Given the description of an element on the screen output the (x, y) to click on. 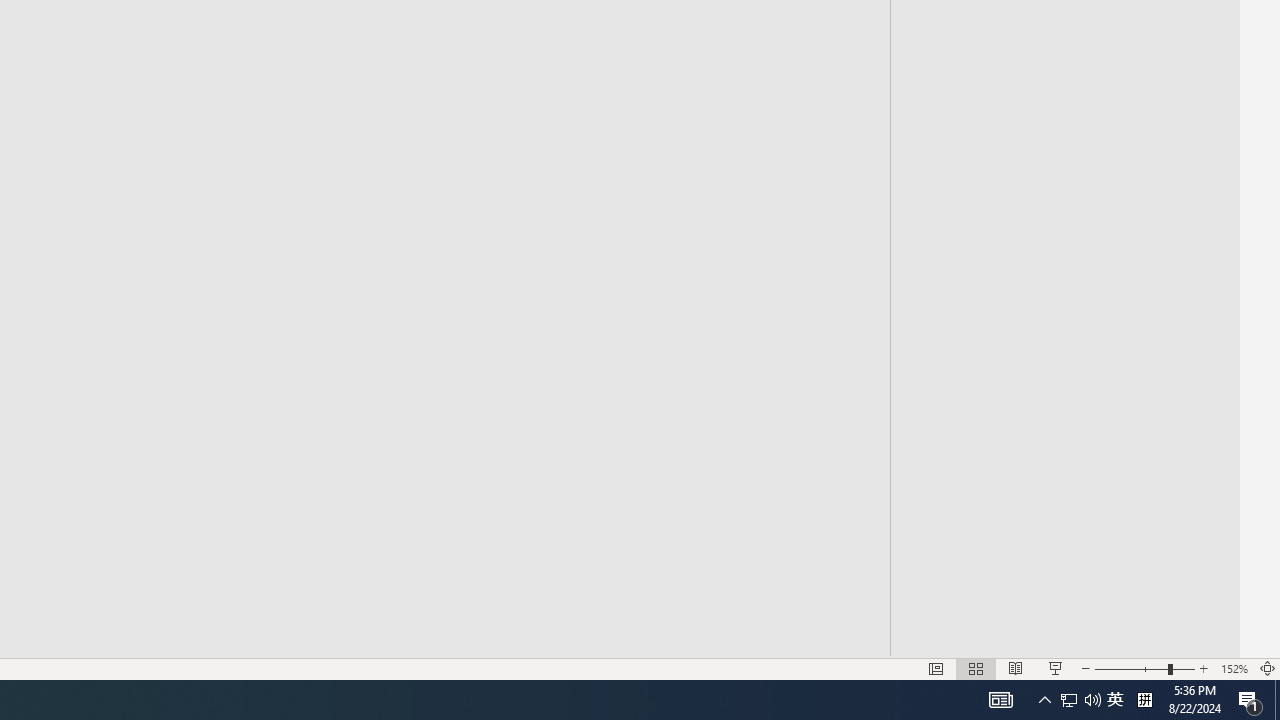
Zoom 152% (1234, 668)
